Given the description of an element on the screen output the (x, y) to click on. 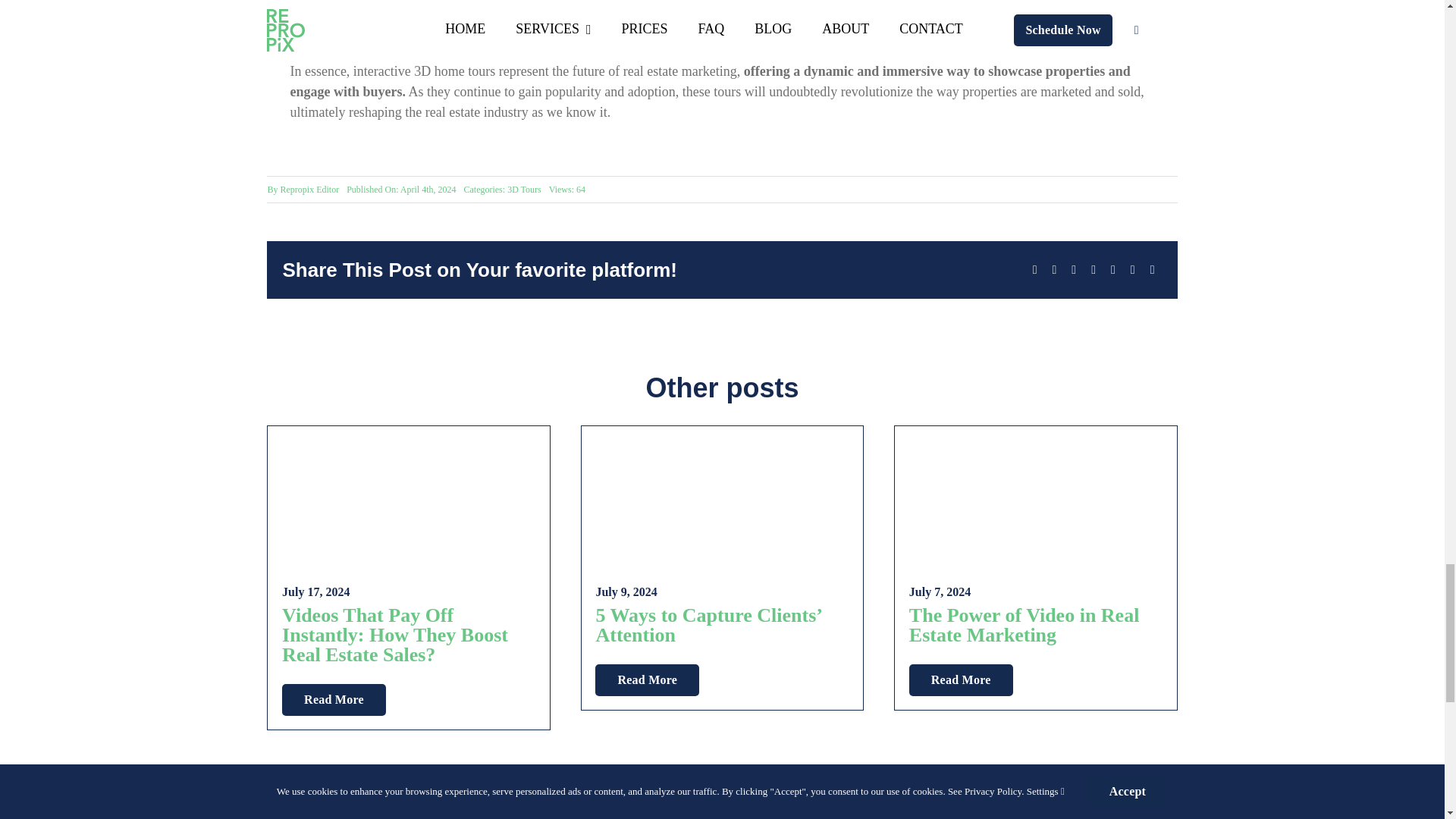
3D Tours (523, 189)
Repropix Editor (309, 189)
Posts by Repropix Editor (309, 189)
